Given the description of an element on the screen output the (x, y) to click on. 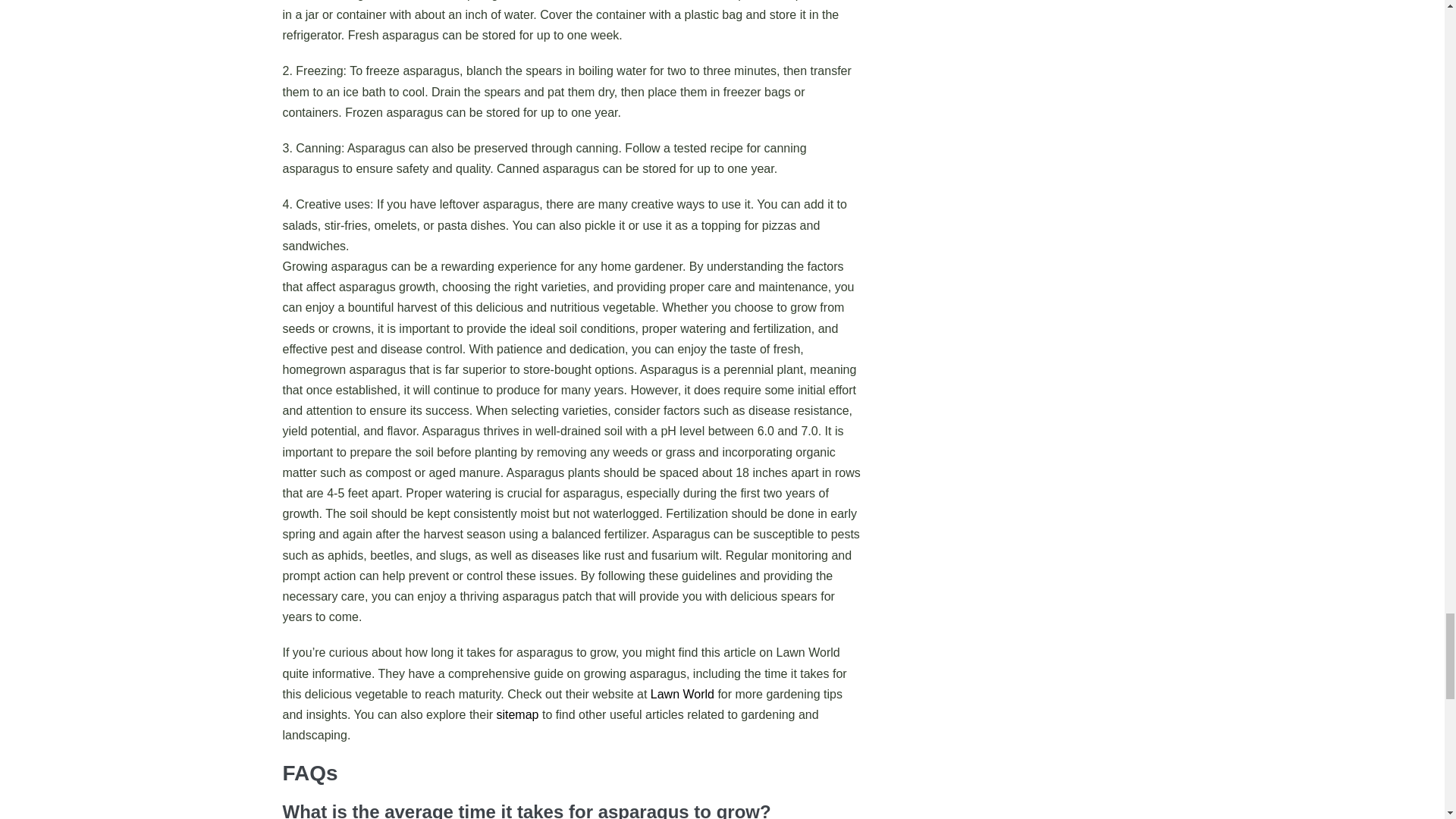
Lawn World (682, 694)
sitemap (517, 714)
